Given the description of an element on the screen output the (x, y) to click on. 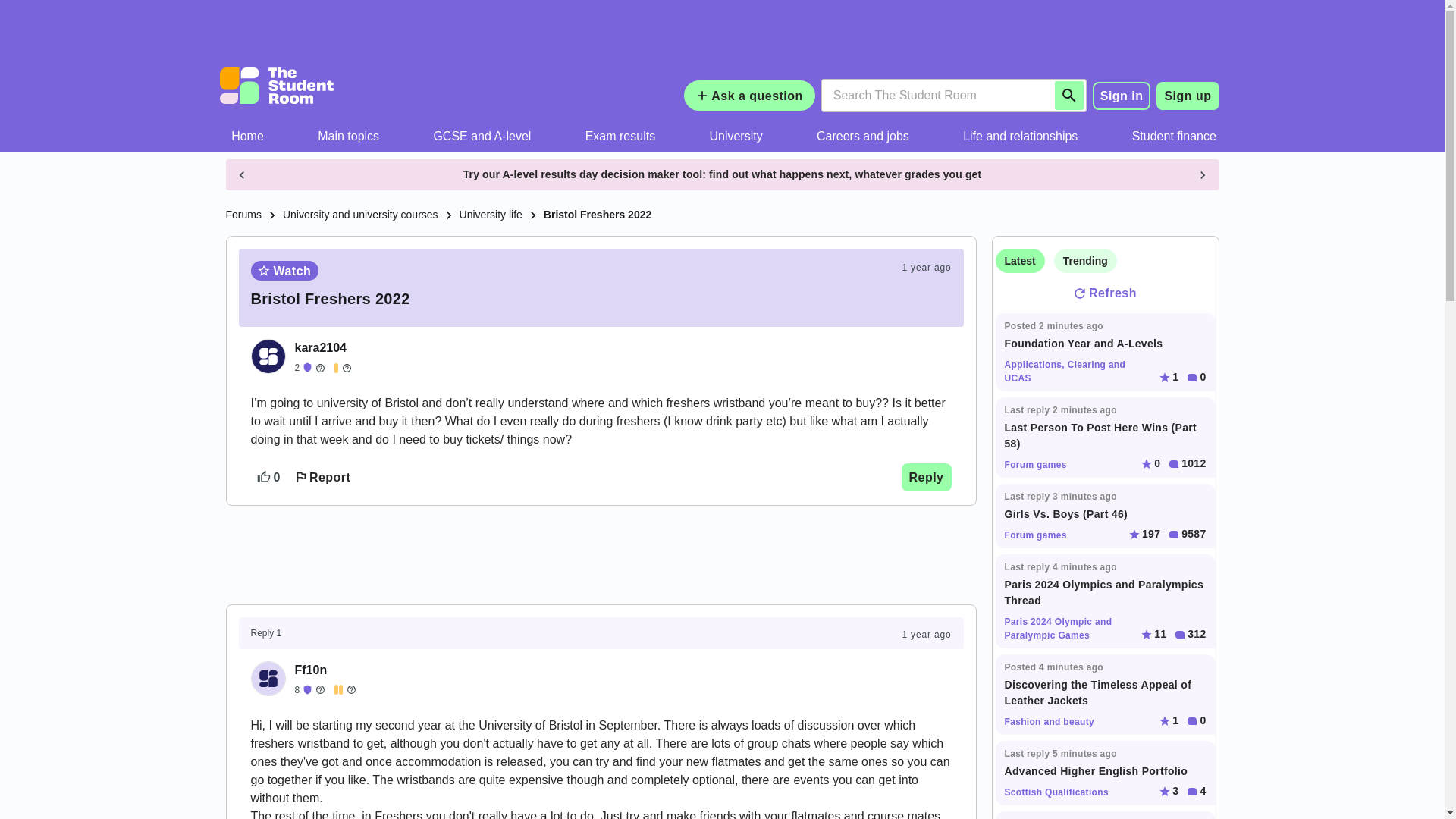
Sign up (1187, 95)
Ask a question (749, 95)
GCSE and A-level (481, 136)
3rd party ad content (721, 38)
Sign in (1122, 95)
3rd party ad content (600, 554)
Home (248, 136)
Sign in (1122, 95)
Main topics (348, 136)
